Given the description of an element on the screen output the (x, y) to click on. 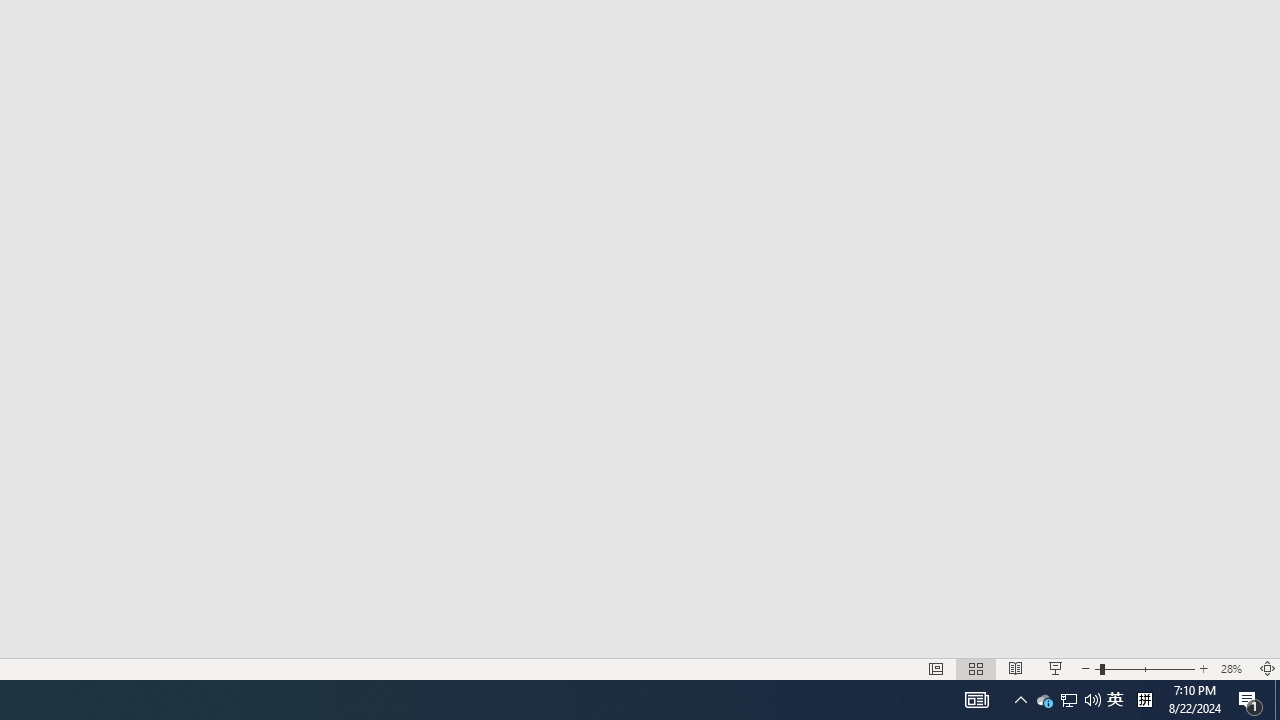
Zoom 28% (1234, 668)
